Given the description of an element on the screen output the (x, y) to click on. 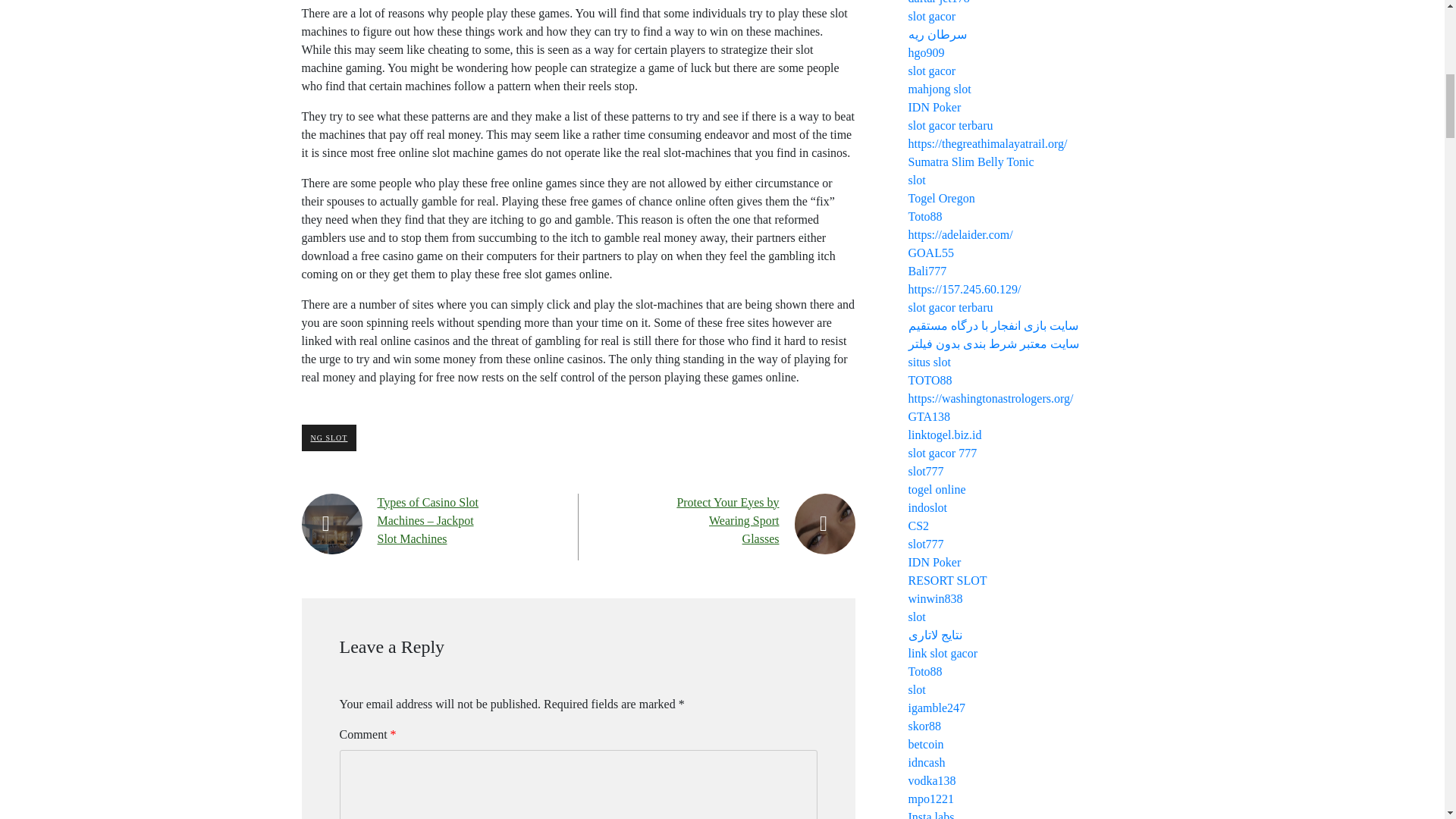
Protect Your Eyes by Wearing Sport Glasses (727, 520)
NG SLOT (328, 438)
